Given the description of an element on the screen output the (x, y) to click on. 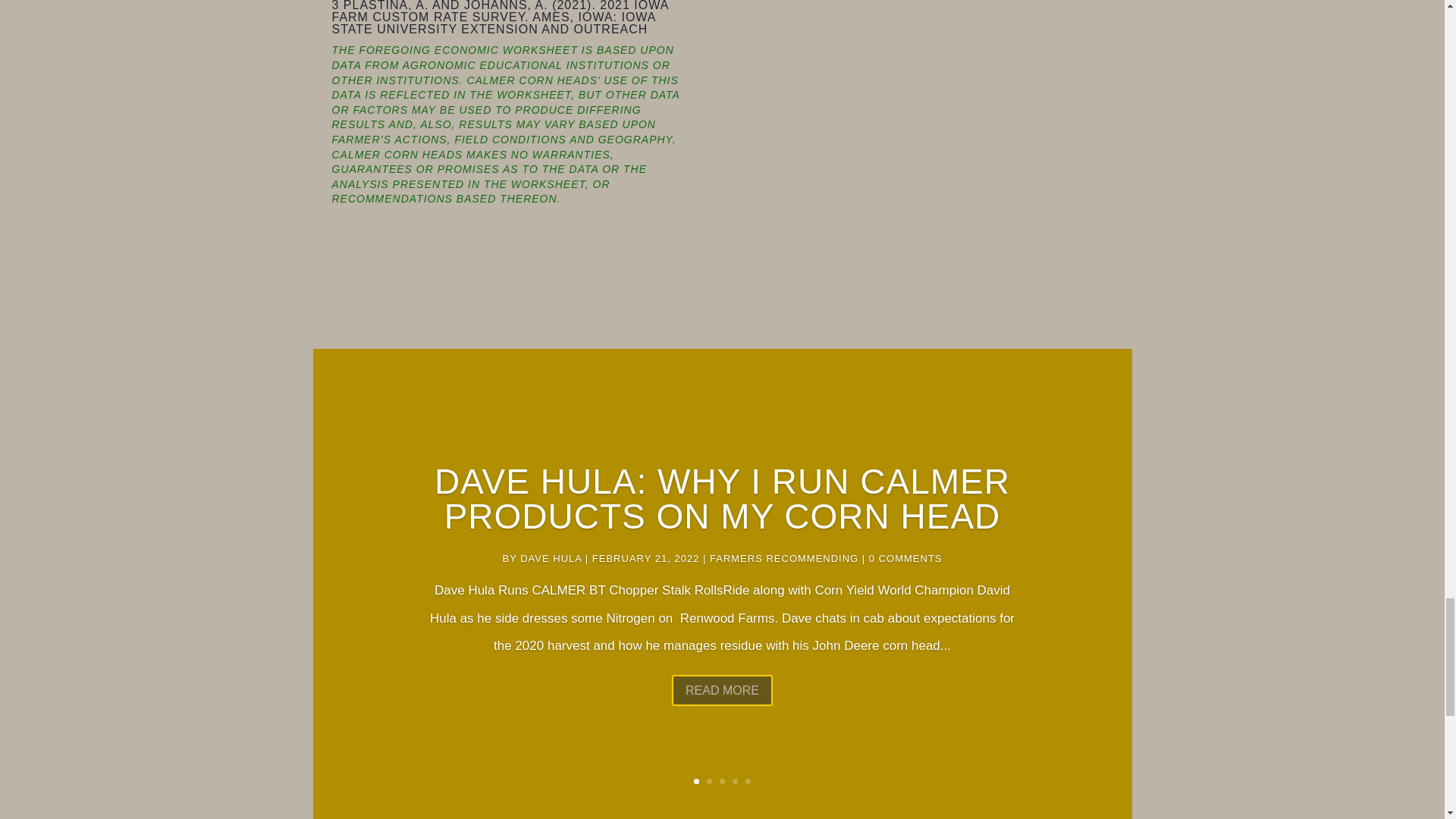
Posts by Dave Hula (549, 558)
